Given the description of an element on the screen output the (x, y) to click on. 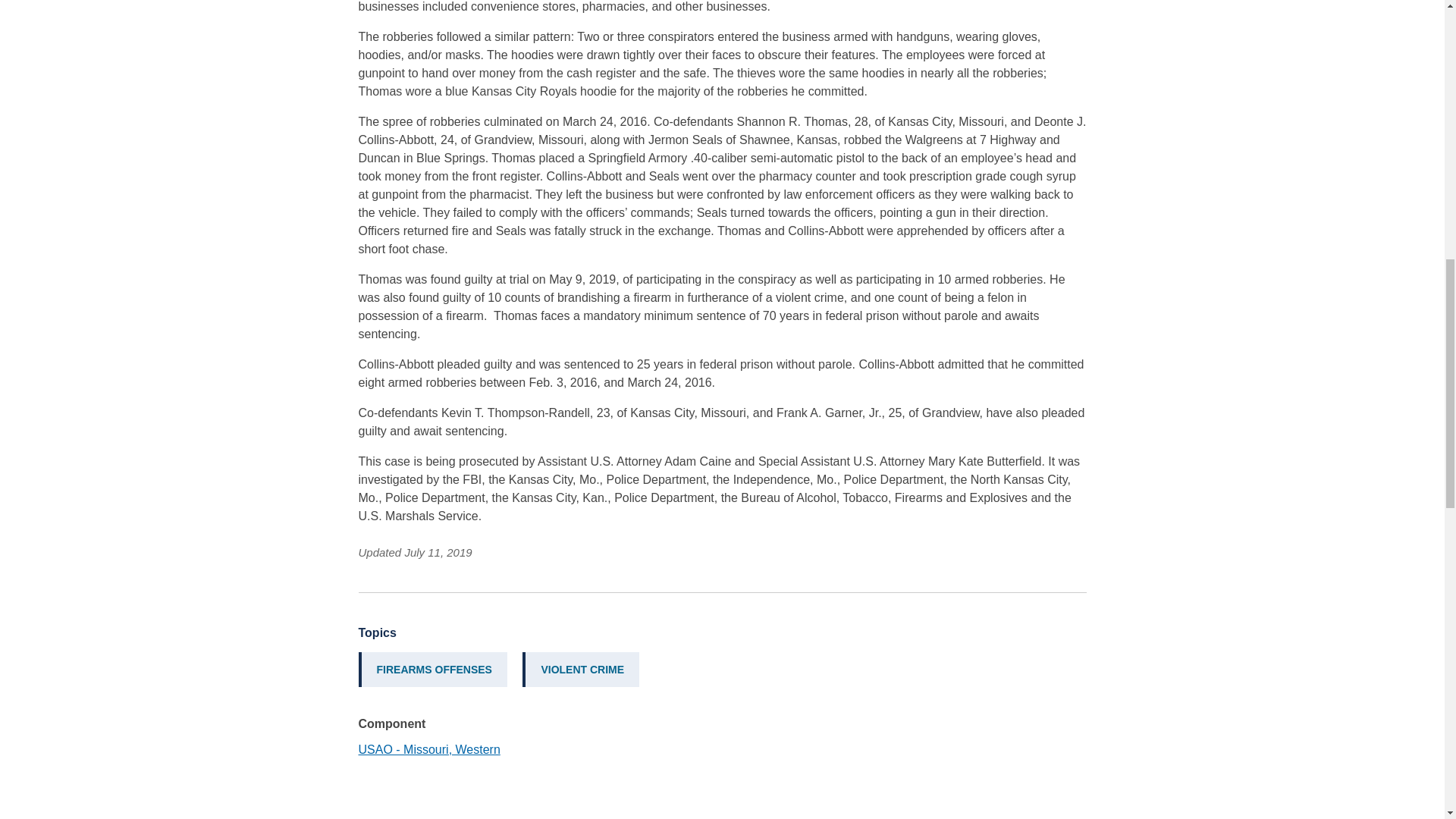
USAO - Missouri, Western (428, 748)
